Given the description of an element on the screen output the (x, y) to click on. 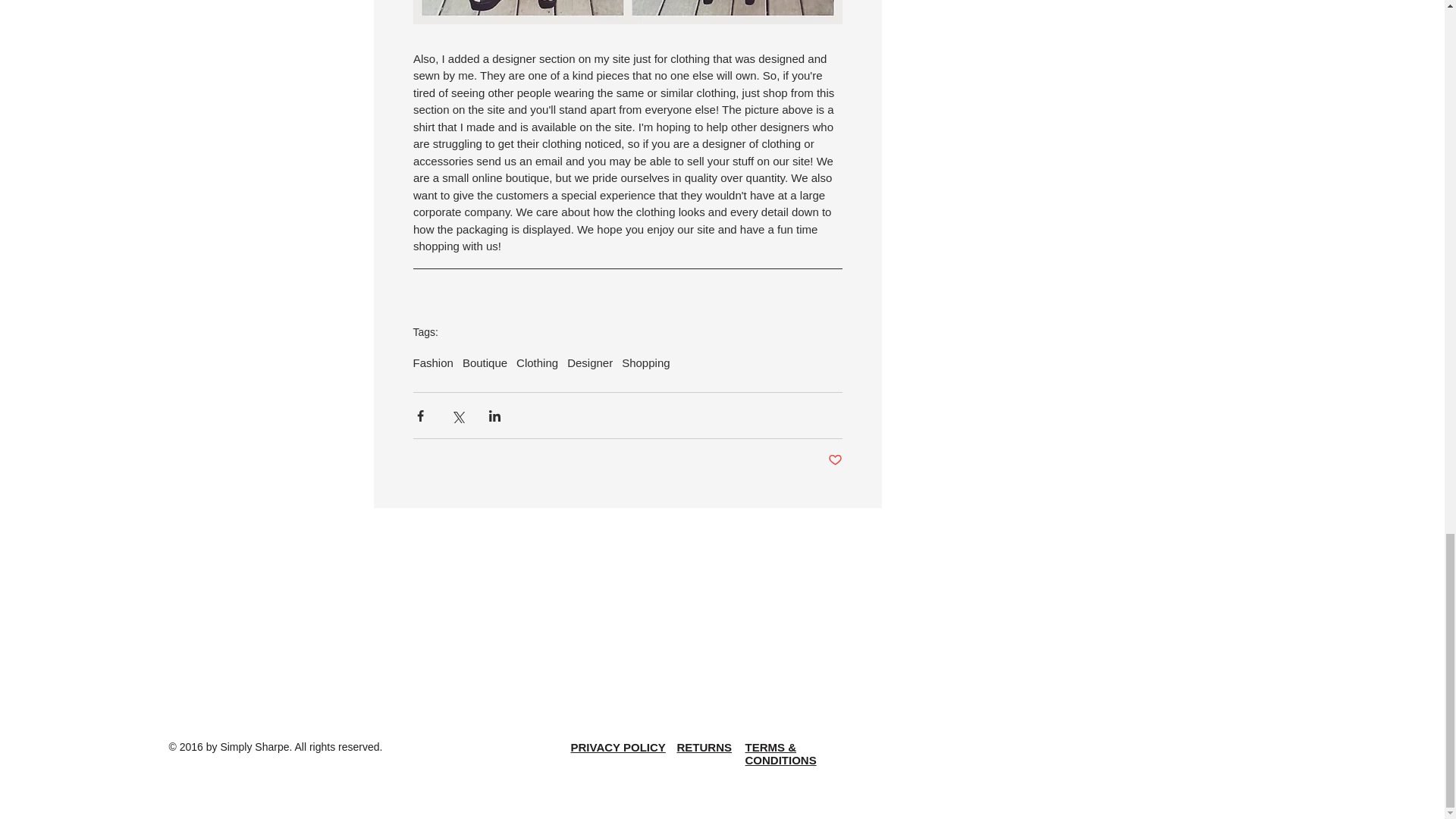
RETURNS (704, 747)
Shopping (645, 362)
Fashion (432, 362)
Clothing (536, 362)
Boutique (484, 362)
Designer (589, 362)
Post not marked as liked (835, 460)
PRIVACY POLICY (617, 747)
